Given the description of an element on the screen output the (x, y) to click on. 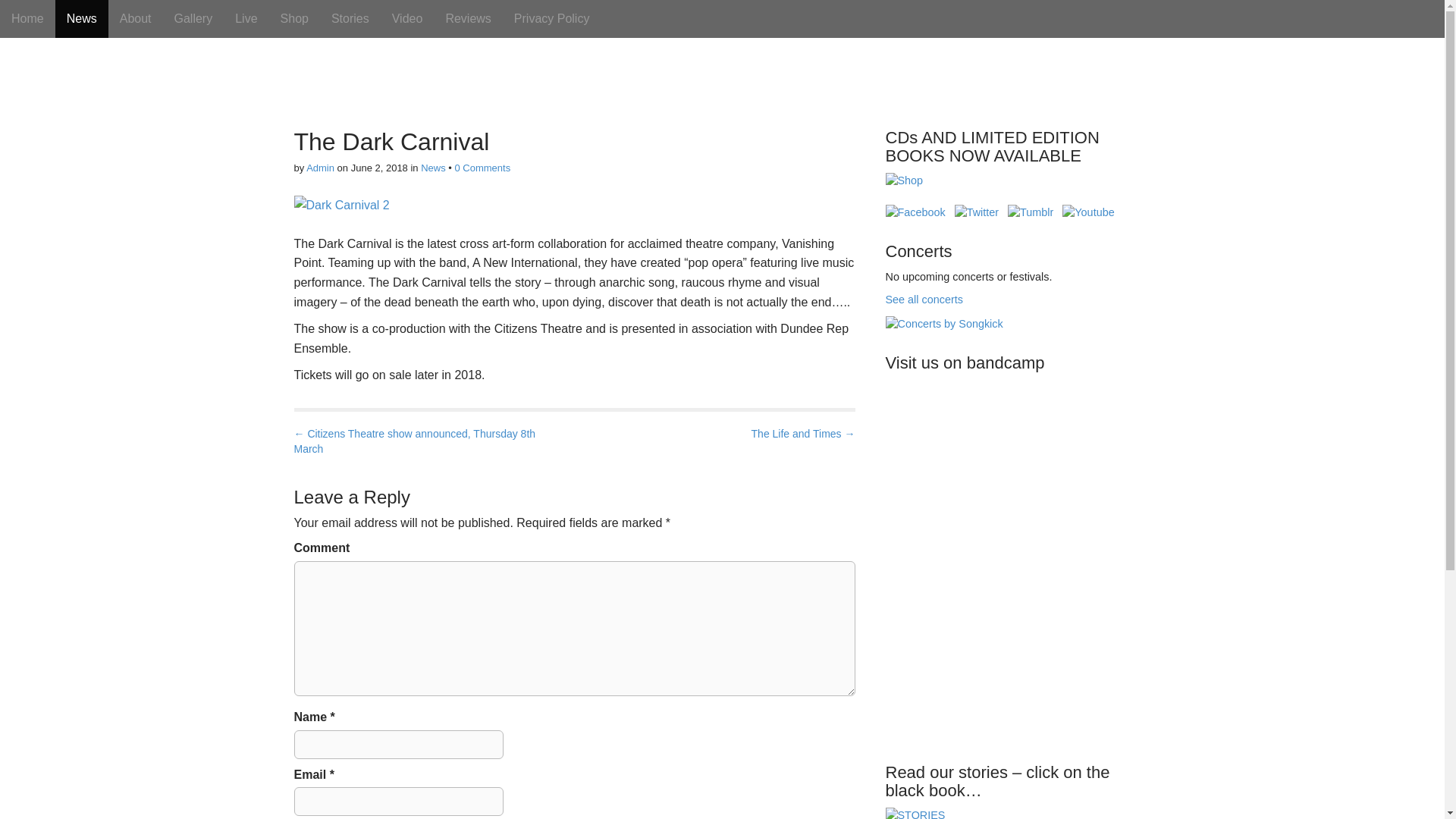
Tumblr (1029, 212)
Reviews (467, 18)
Gallery (193, 18)
Shop (904, 187)
June 2, 2018 (378, 167)
News (81, 18)
Home (27, 18)
 Facebook (914, 212)
Stories (350, 18)
Live (245, 18)
About (135, 18)
See all concerts (923, 299)
Video (406, 18)
News (432, 167)
STORIES (914, 813)
